Given the description of an element on the screen output the (x, y) to click on. 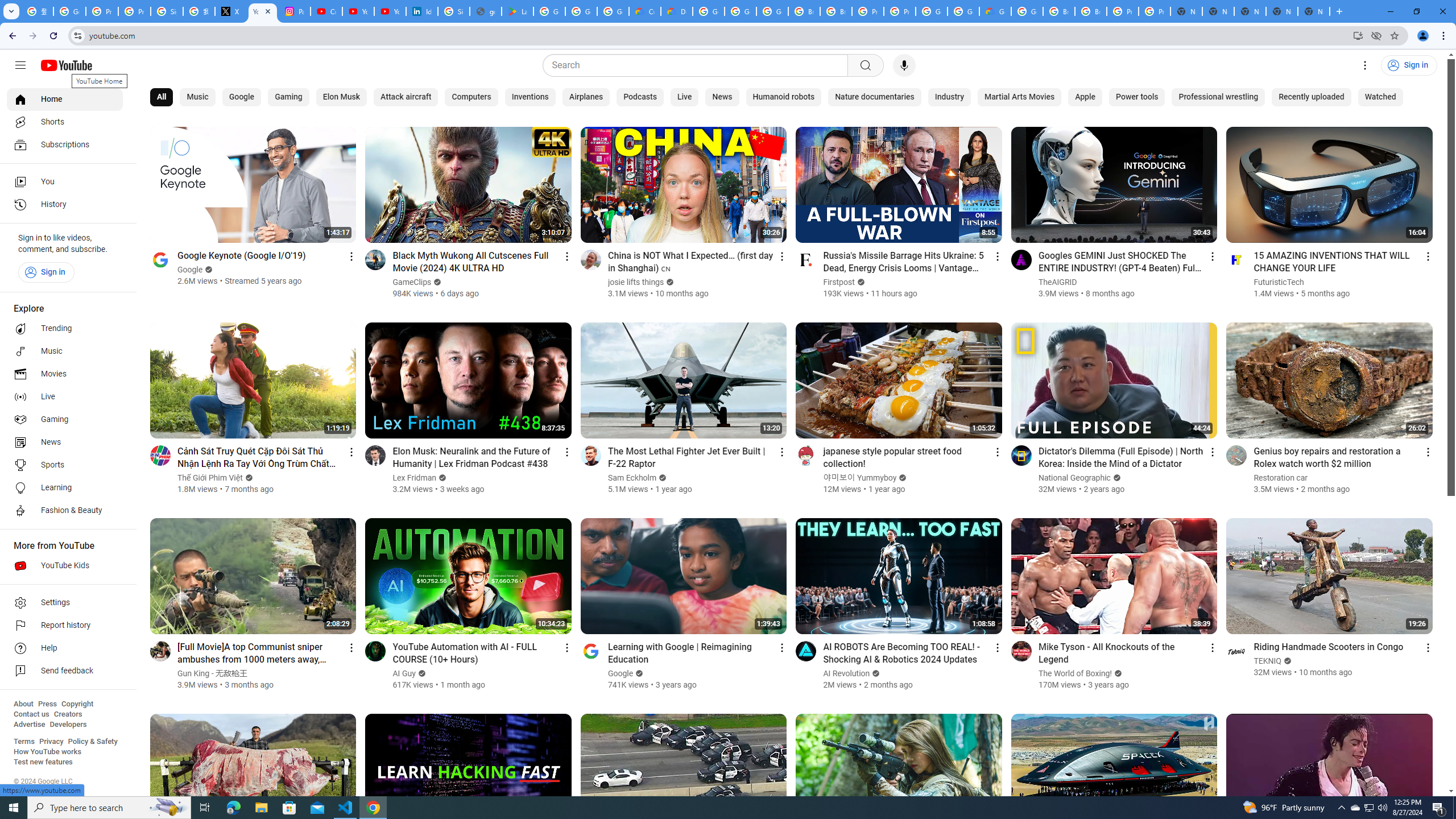
GameClips (412, 282)
Music (197, 97)
Restoration car (1280, 477)
Creators (67, 714)
Google Cloud Estimate Summary (995, 11)
Google Cloud Platform (931, 11)
Privacy Help Center - Policies Help (101, 11)
